Given the description of an element on the screen output the (x, y) to click on. 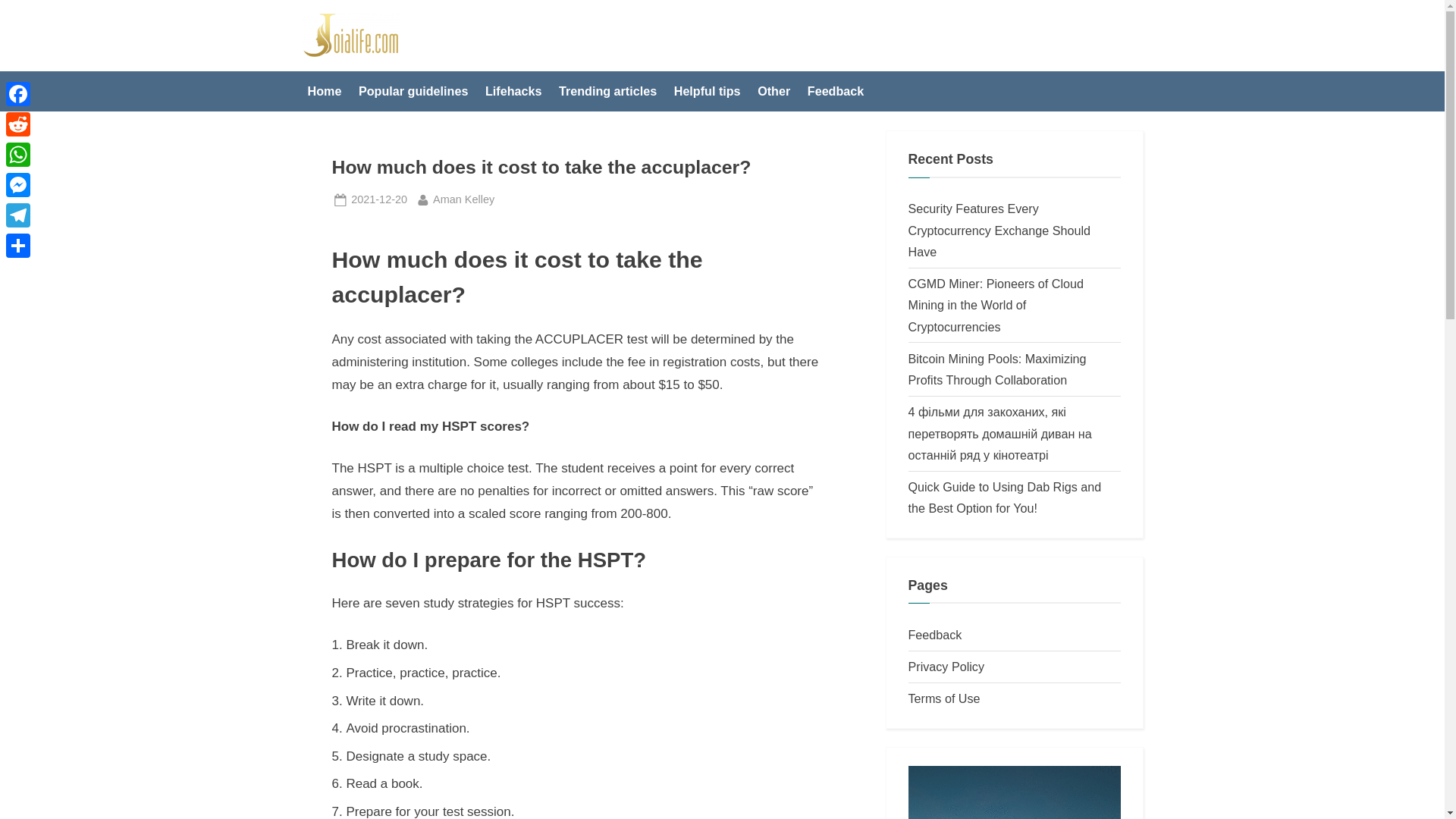
Other (773, 91)
Privacy Policy (946, 666)
Telegram (17, 214)
WhatsApp (17, 154)
WhatsApp (17, 154)
Joialife.com (443, 46)
Telegram (17, 214)
Feedback (935, 634)
Helpful tips (707, 91)
Facebook (17, 93)
Home (324, 91)
Reddit (378, 199)
Lifehacks (17, 123)
